Given the description of an element on the screen output the (x, y) to click on. 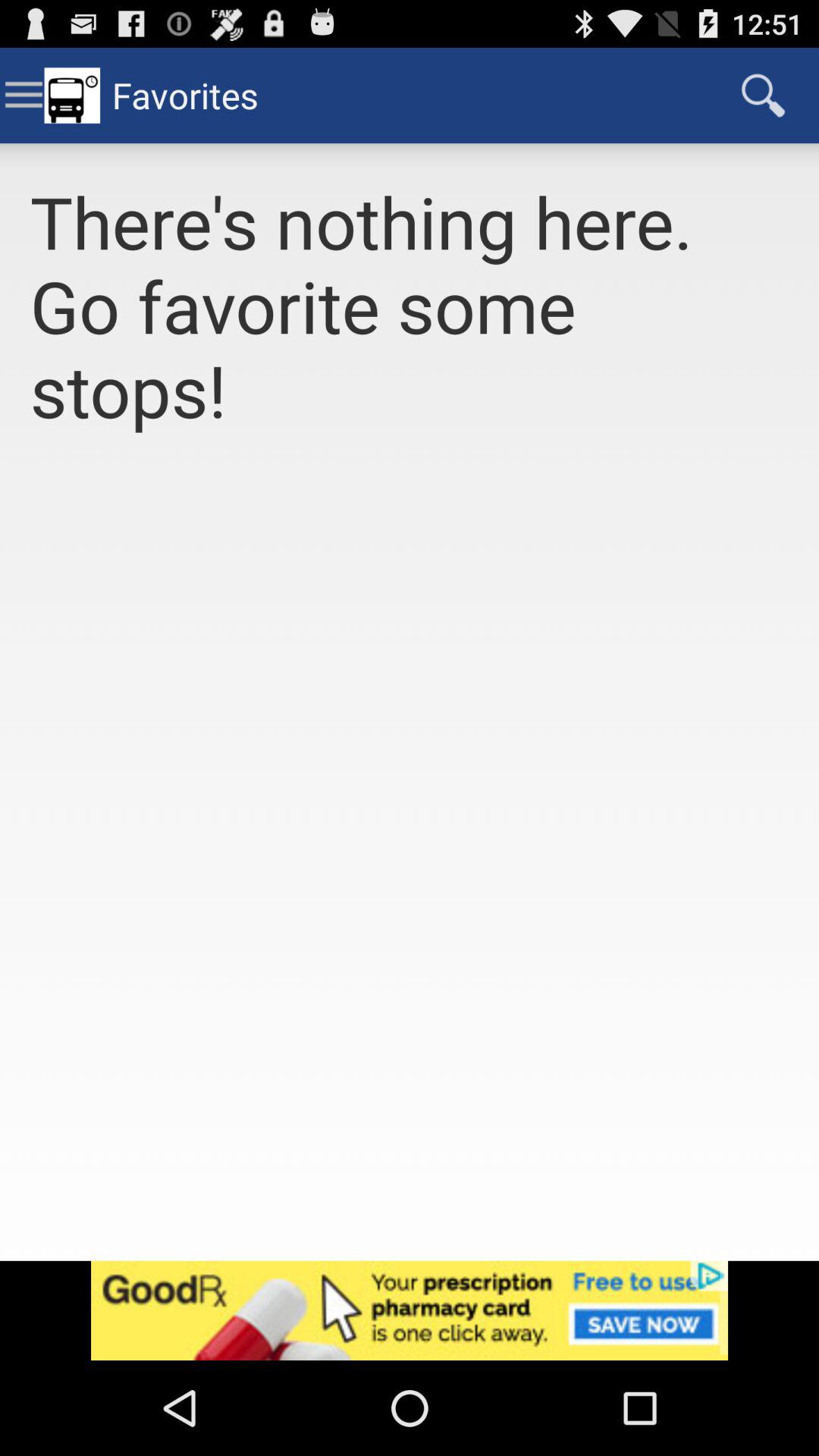
screen page (409, 864)
